Given the description of an element on the screen output the (x, y) to click on. 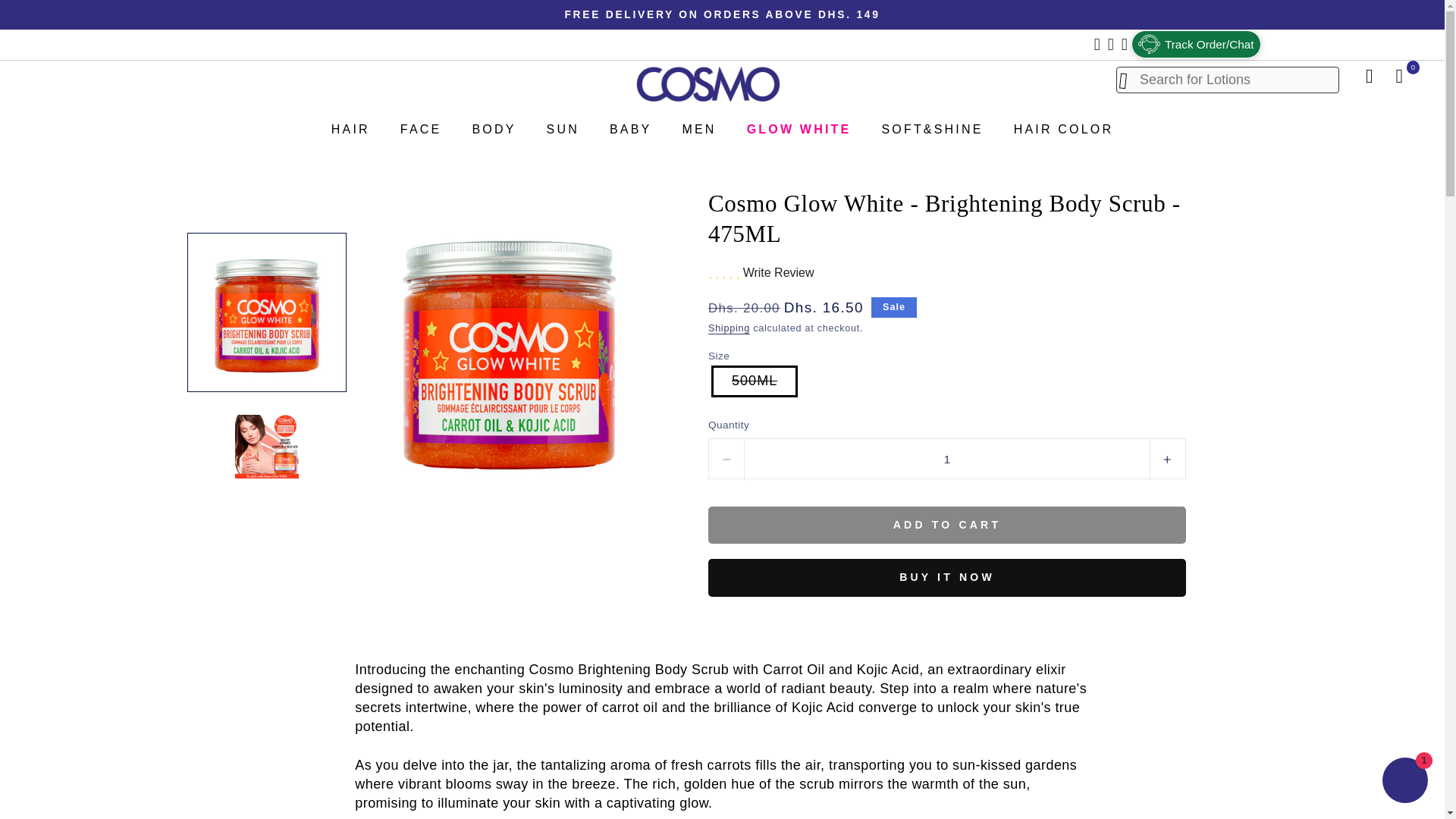
Skip to content (48, 18)
Shopify online store chat (1404, 781)
1 (947, 458)
